Given the description of an element on the screen output the (x, y) to click on. 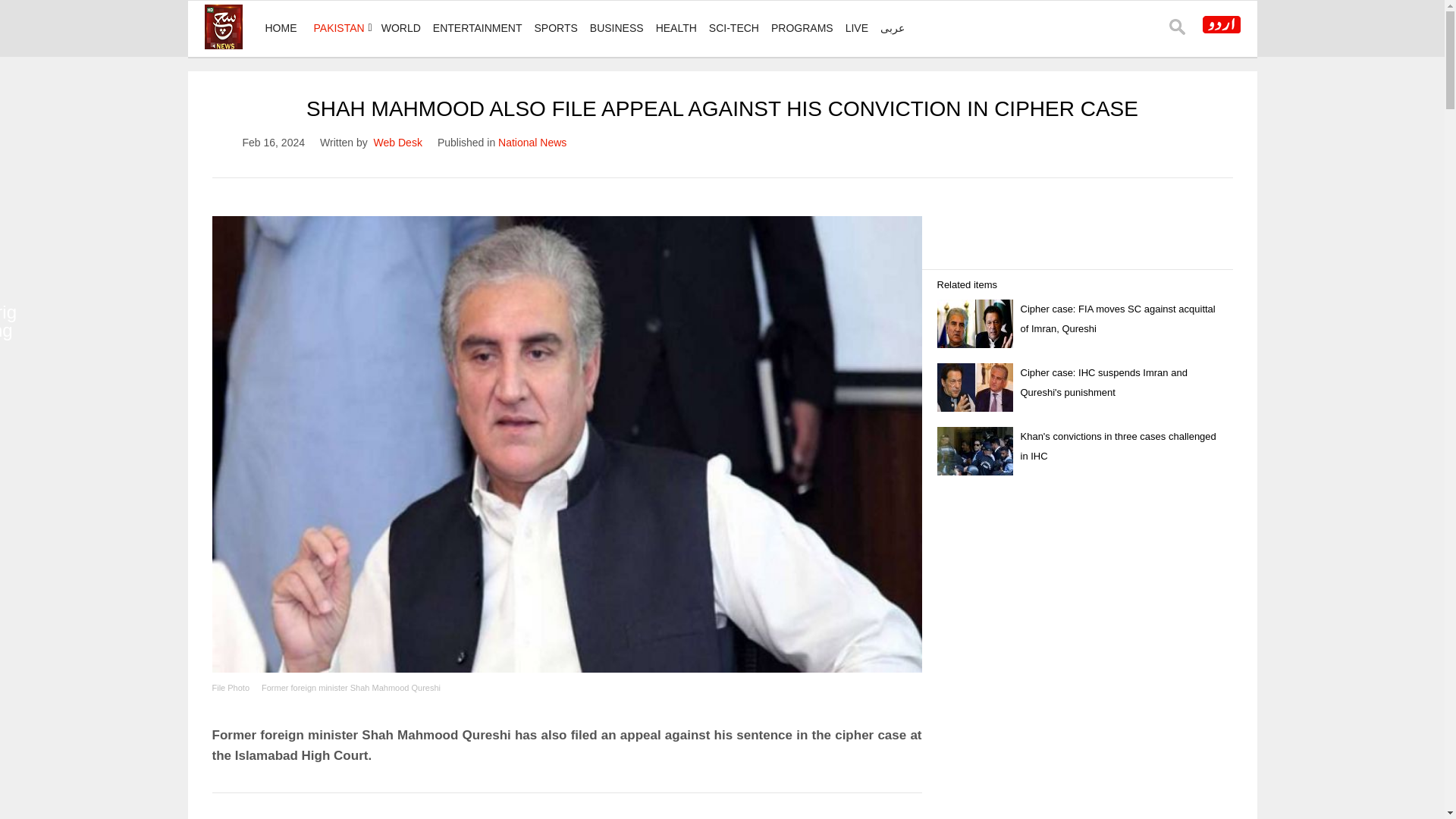
SPORTS (555, 27)
ENTERTAINMENT (477, 27)
SCI-TECH (734, 27)
PAKISTAN (338, 27)
National News (531, 142)
WORLD (400, 27)
Khan's convictions in three cases challenged in IHC (1117, 402)
PROGRAMS (802, 27)
BUSINESS (616, 27)
